Given the description of an element on the screen output the (x, y) to click on. 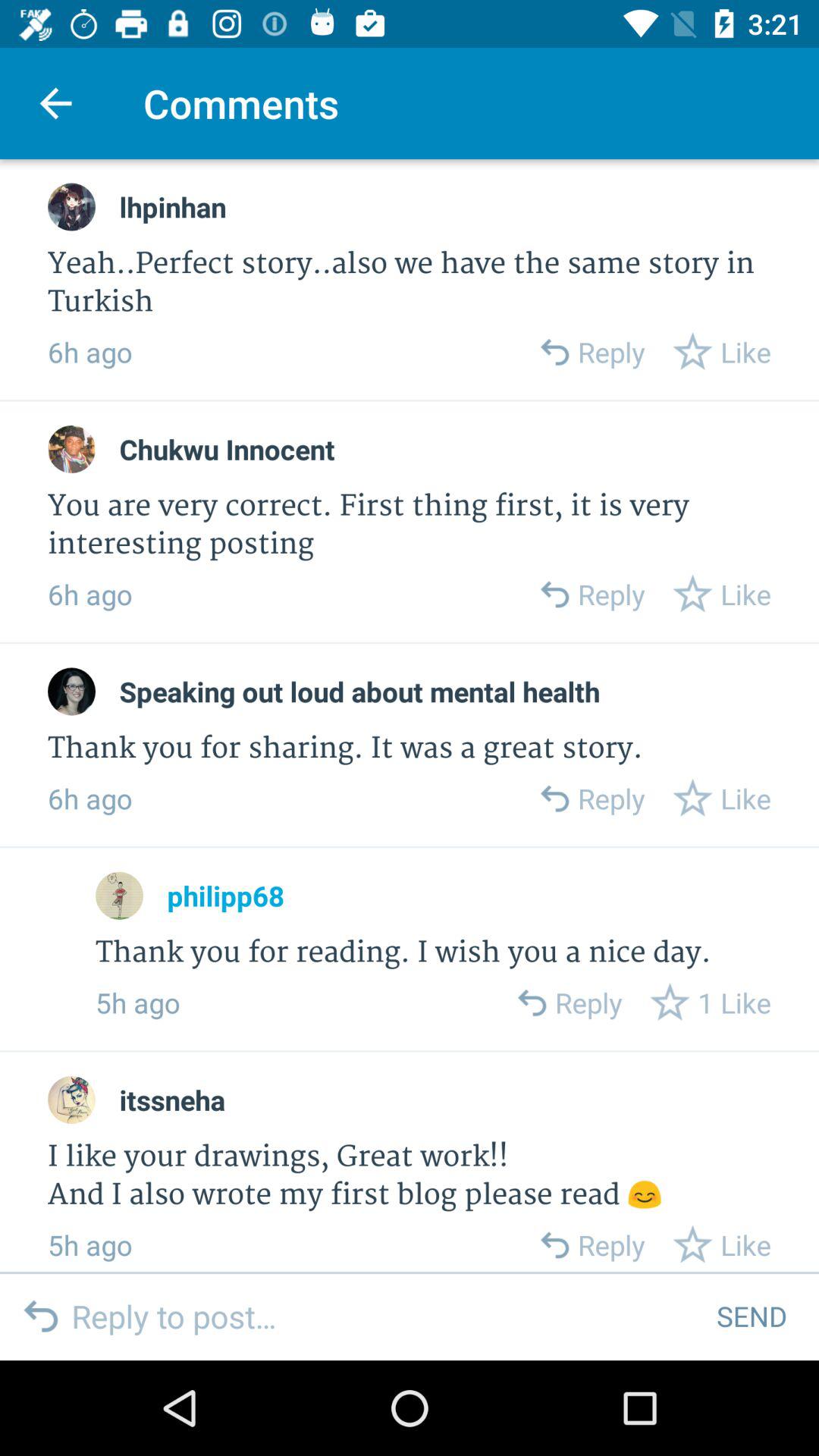
go back on reply (553, 798)
